Given the description of an element on the screen output the (x, y) to click on. 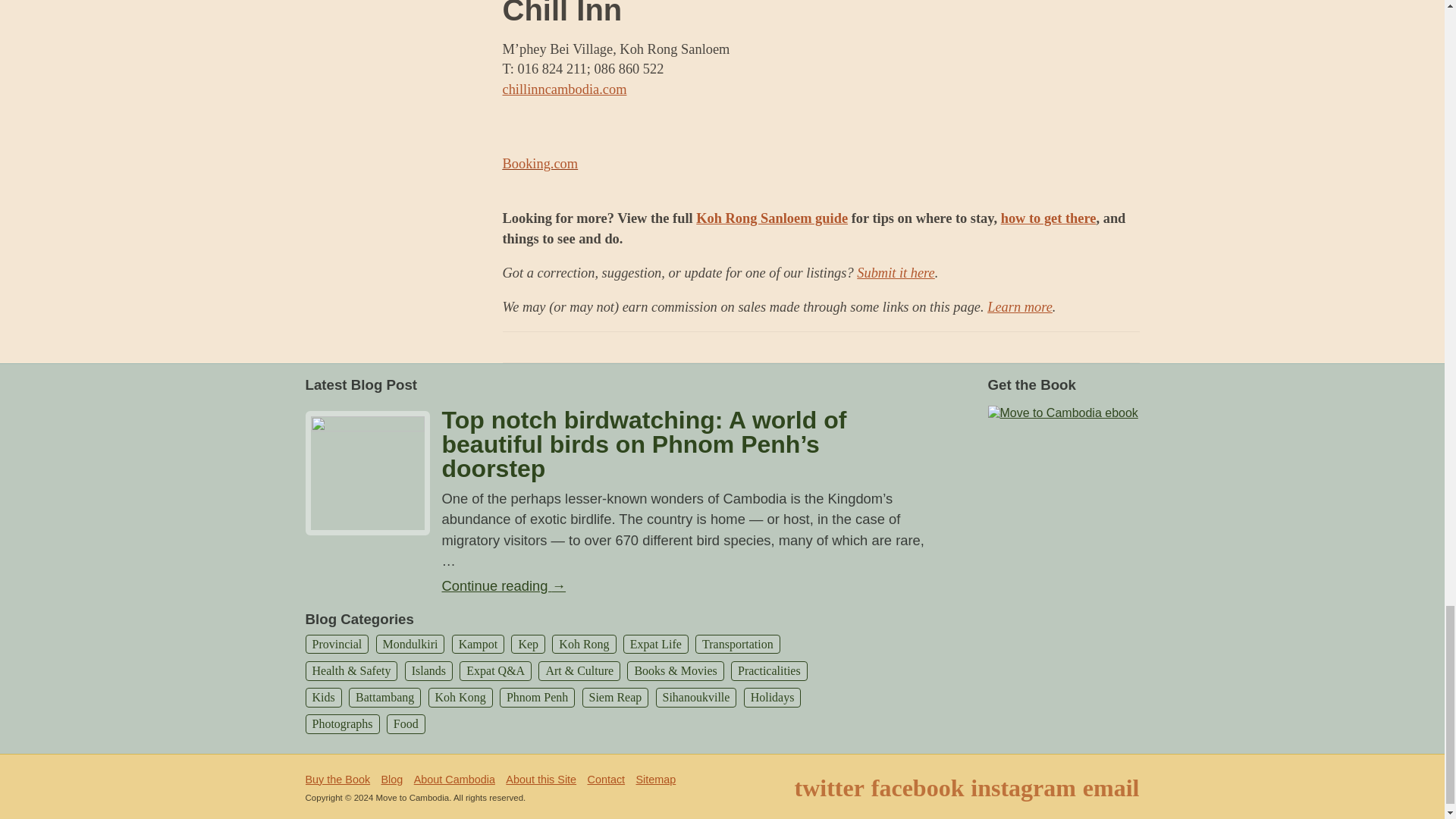
Transportation (737, 643)
how to get there (1048, 218)
Sign up to receive Move to Cambodia updates by email! (1111, 787)
Buy the Move to Cambodia Ebook (1062, 411)
Kampot (478, 643)
Provincial (336, 643)
chillinncambodia.com (564, 89)
Expat Life (655, 643)
Find Move to Cambodia on Instagram! (1023, 787)
Kep (527, 643)
